Given the description of an element on the screen output the (x, y) to click on. 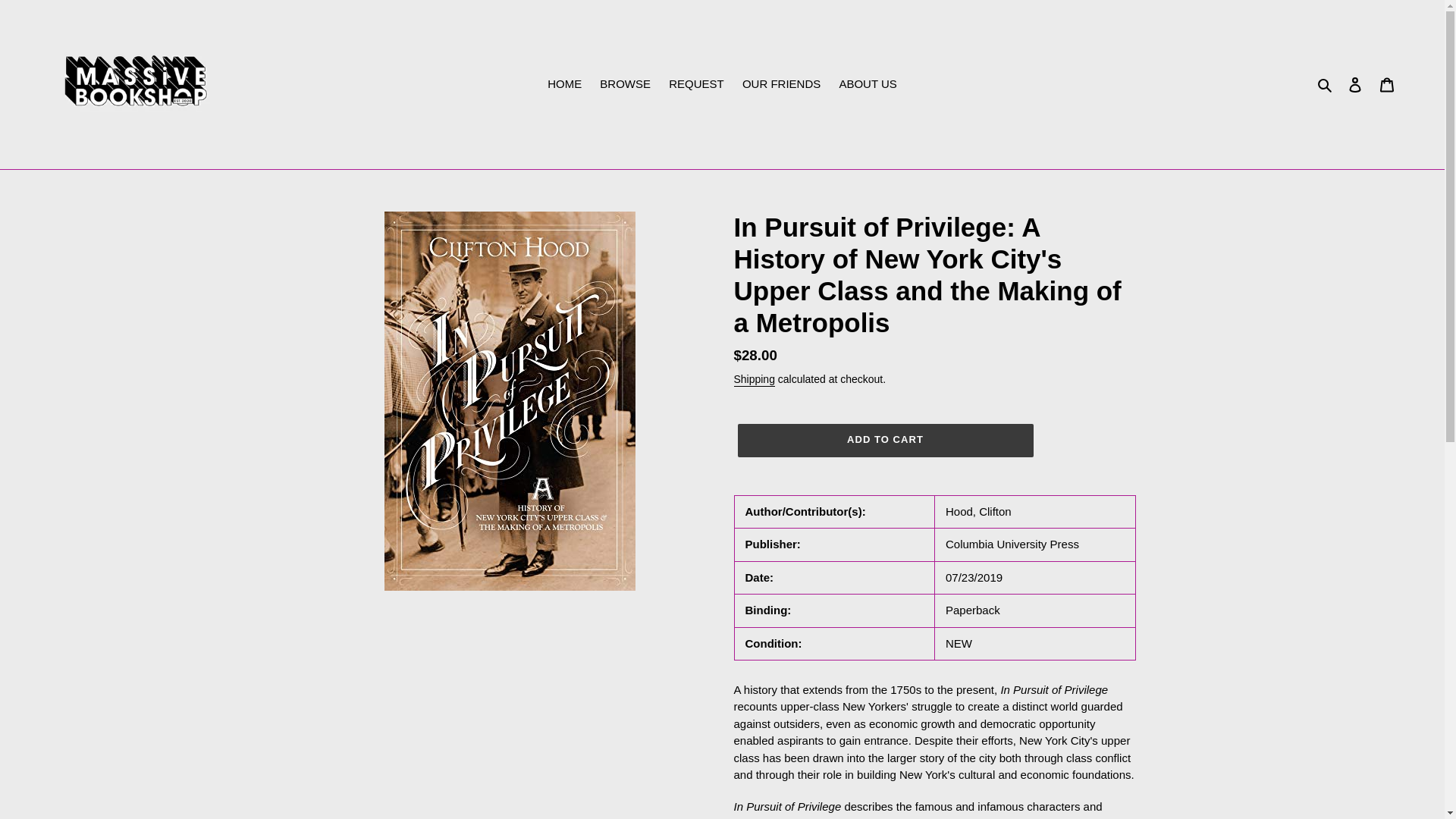
BROWSE (625, 84)
Log in (1355, 83)
Search (1326, 84)
REQUEST (696, 84)
HOME (564, 84)
ABOUT US (867, 84)
Shipping (753, 379)
ADD TO CART (884, 440)
OUR FRIENDS (781, 84)
Cart (1387, 83)
